Given the description of an element on the screen output the (x, y) to click on. 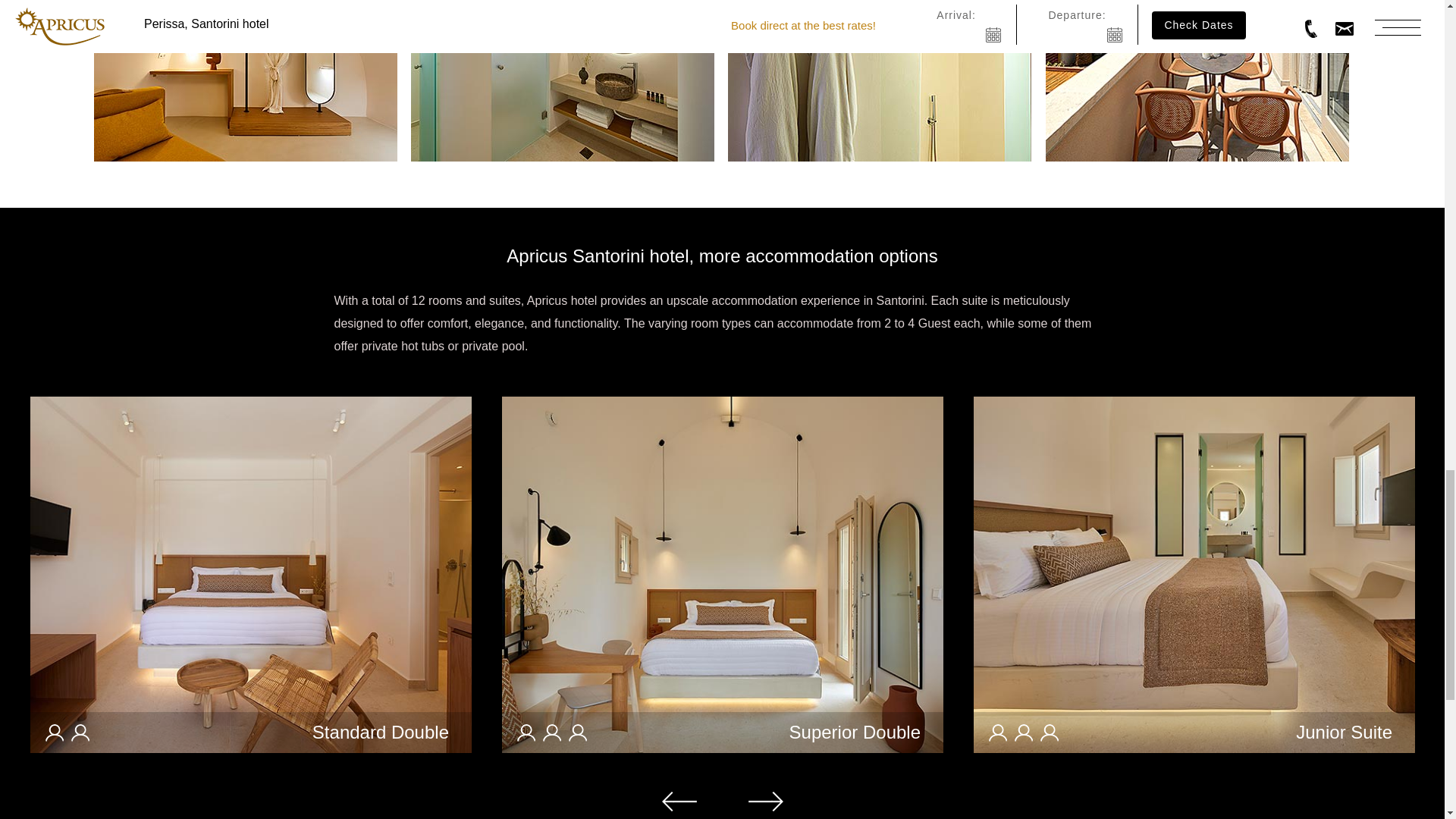
Previous (678, 801)
